Given the description of an element on the screen output the (x, y) to click on. 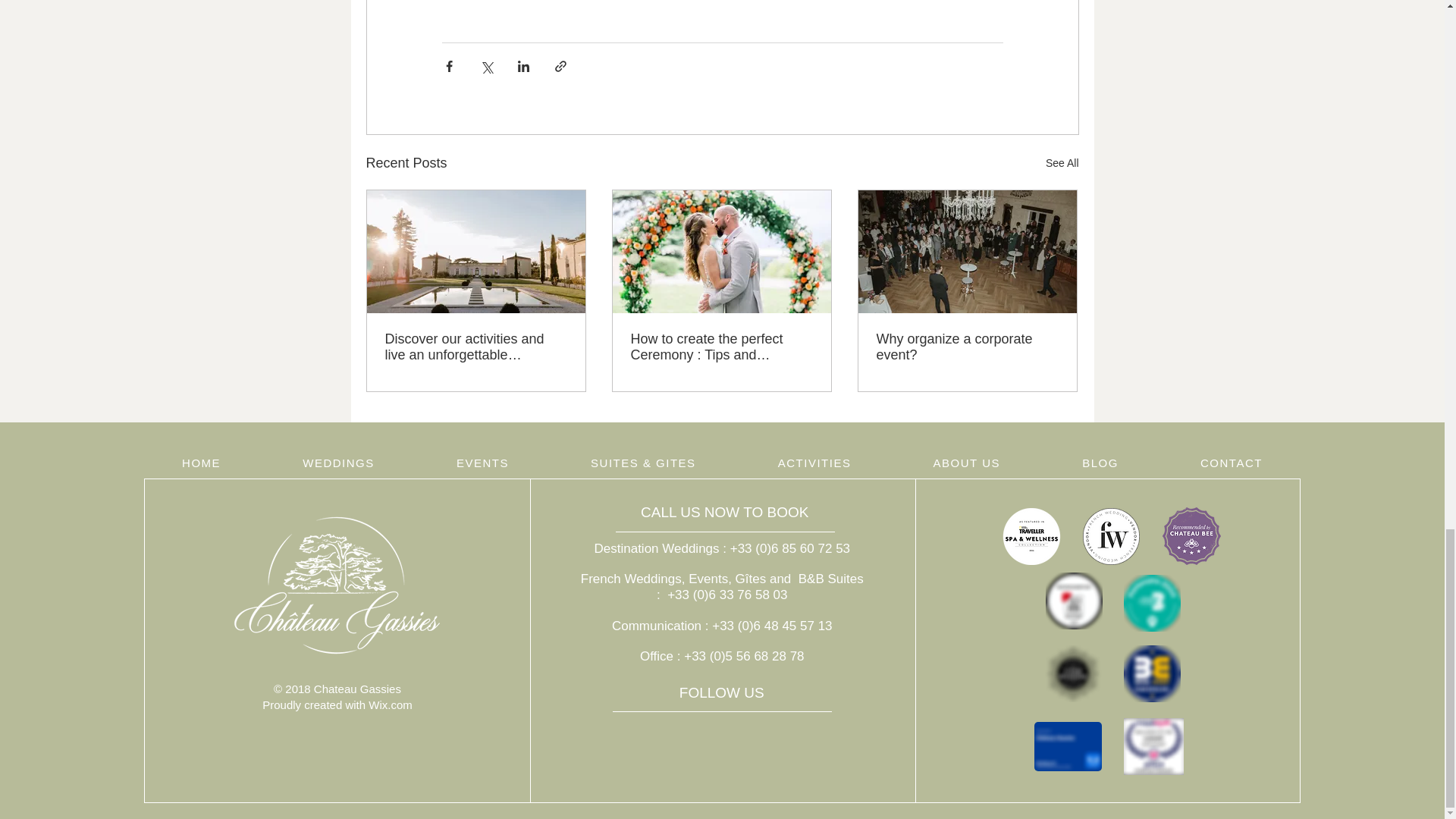
CBS  affiliate 2.png (1191, 536)
See All (1061, 163)
Discover our activities and live an unforgettable experience (476, 347)
